Given the description of an element on the screen output the (x, y) to click on. 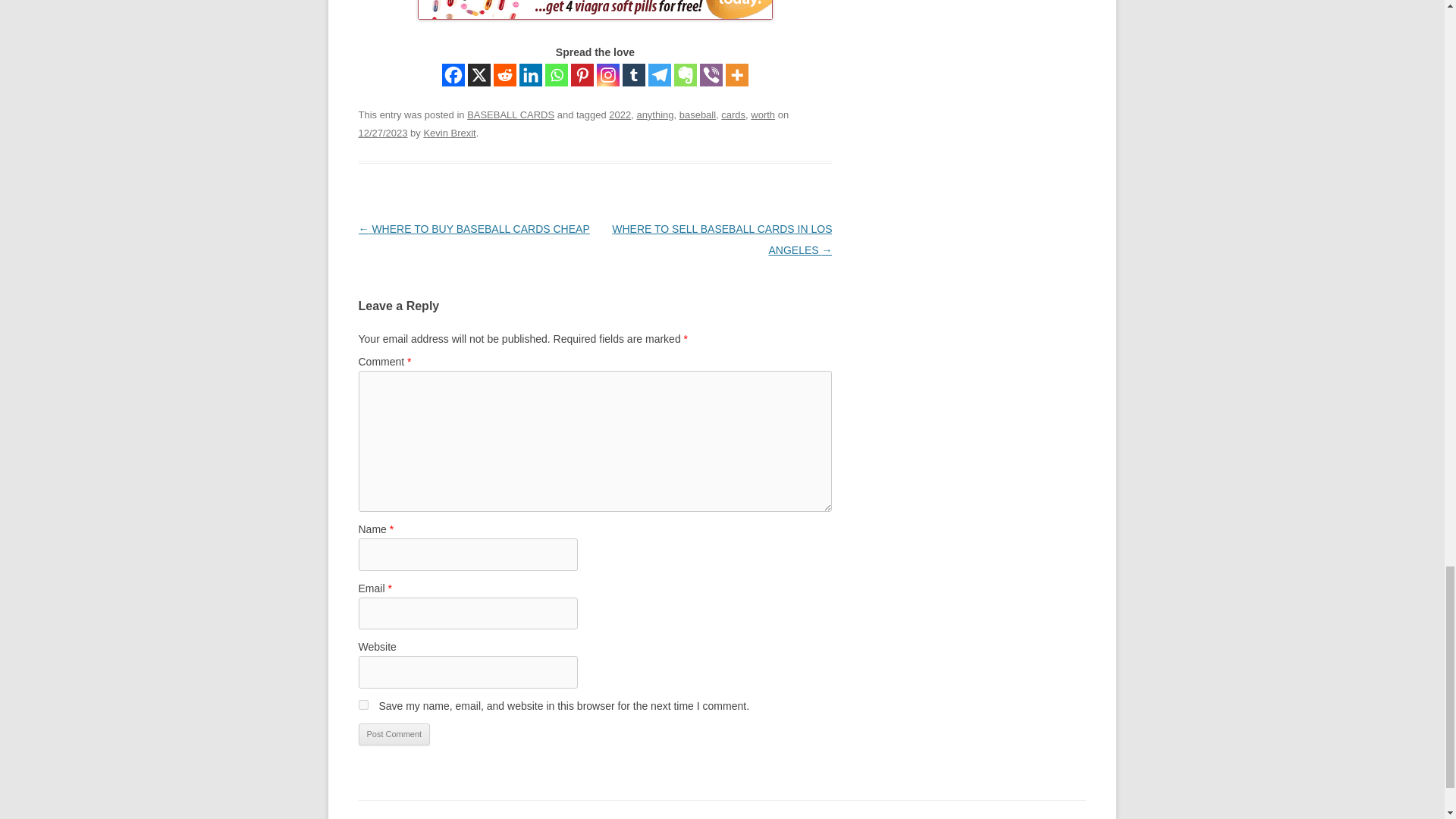
Viber (711, 74)
2:48 AM (382, 132)
Post Comment (393, 734)
X (478, 74)
Evernote (685, 74)
Post Comment (393, 734)
Reddit (504, 74)
Telegram (659, 74)
Kevin Brexit (449, 132)
2022 (619, 114)
cards (732, 114)
BASEBALL CARDS (510, 114)
baseball (697, 114)
anything (654, 114)
Tumblr (634, 74)
